Given the description of an element on the screen output the (x, y) to click on. 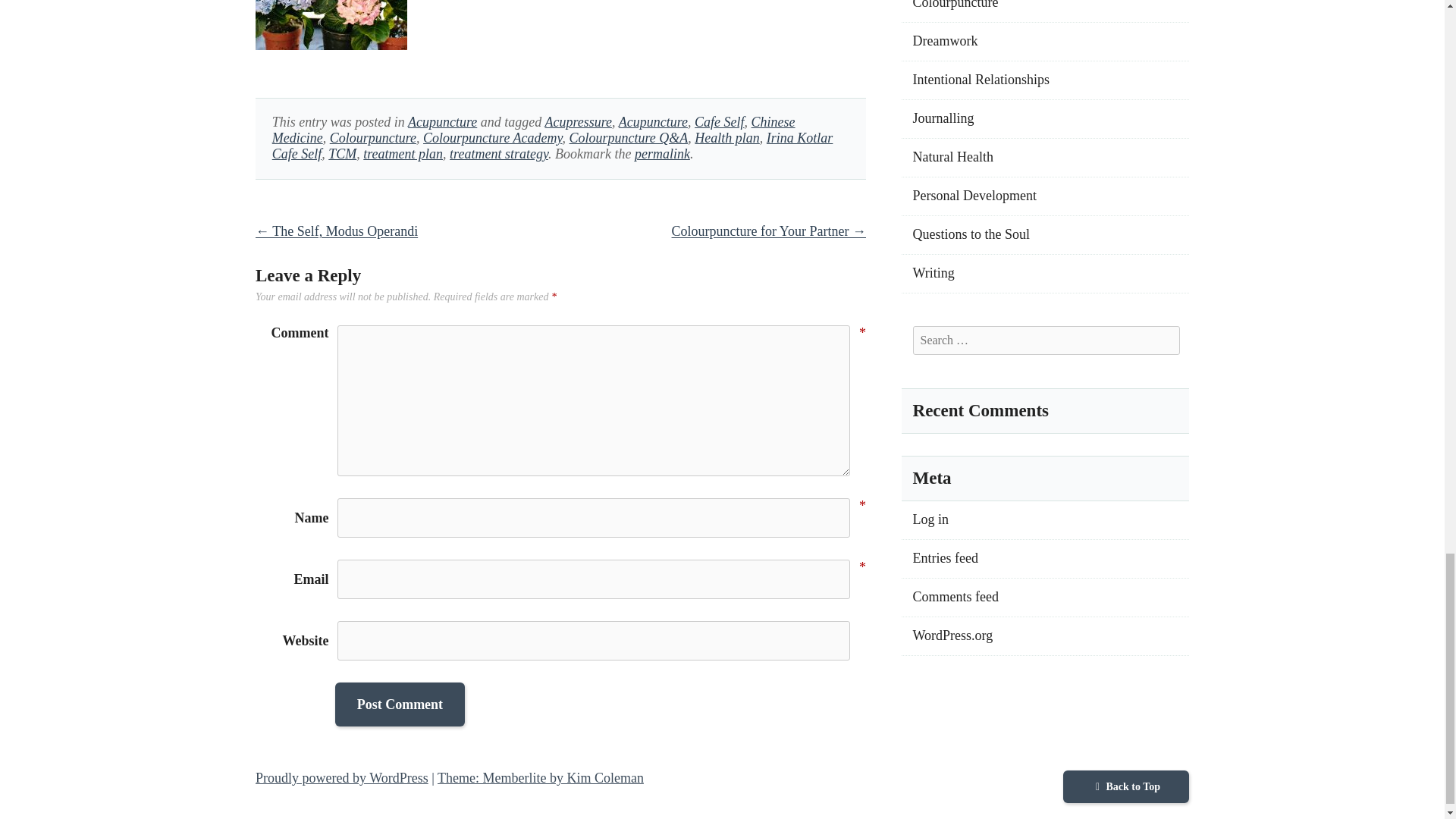
Post Comment (399, 704)
